Given the description of an element on the screen output the (x, y) to click on. 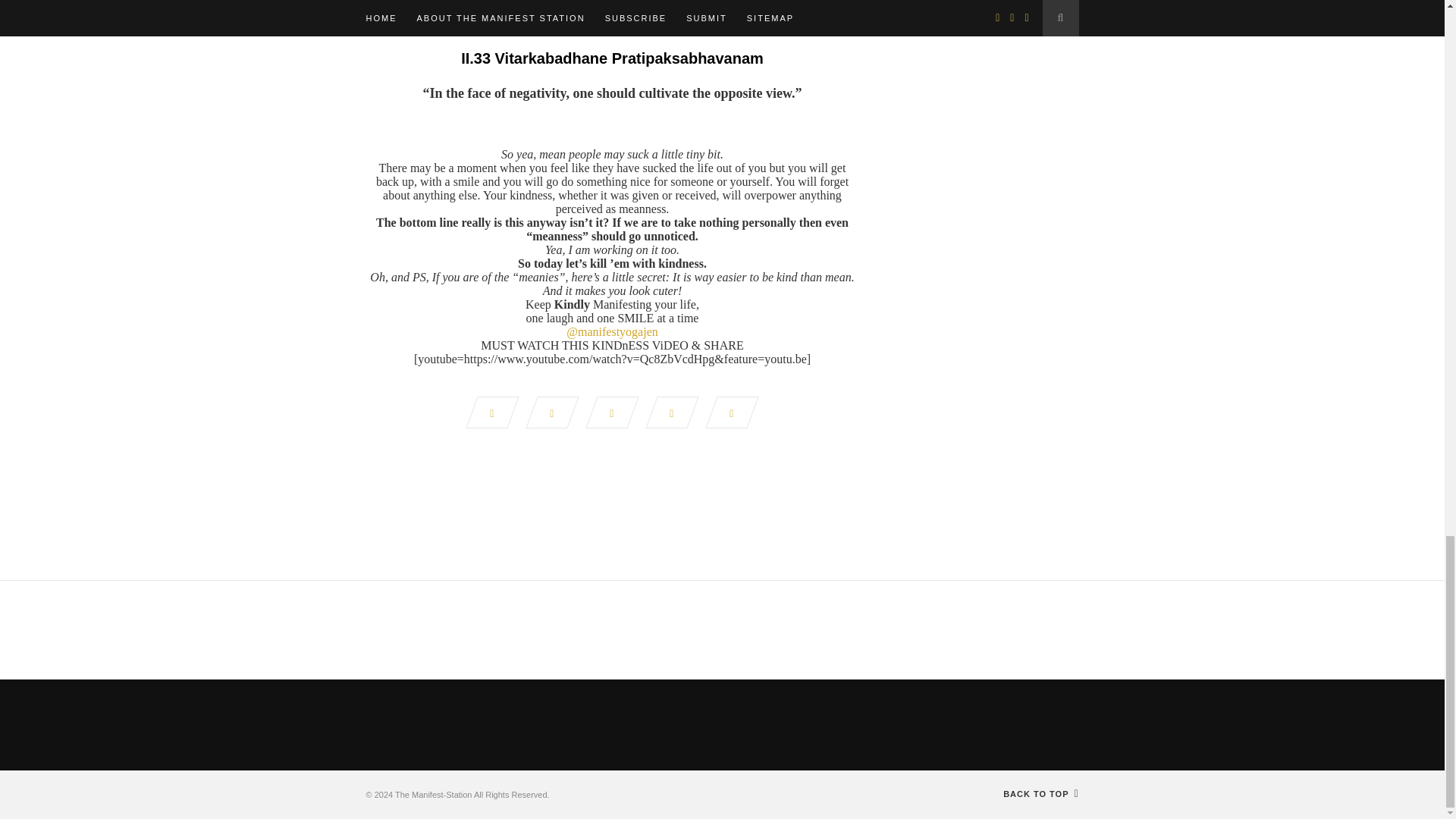
BACK TO TOP (1040, 793)
